Given the description of an element on the screen output the (x, y) to click on. 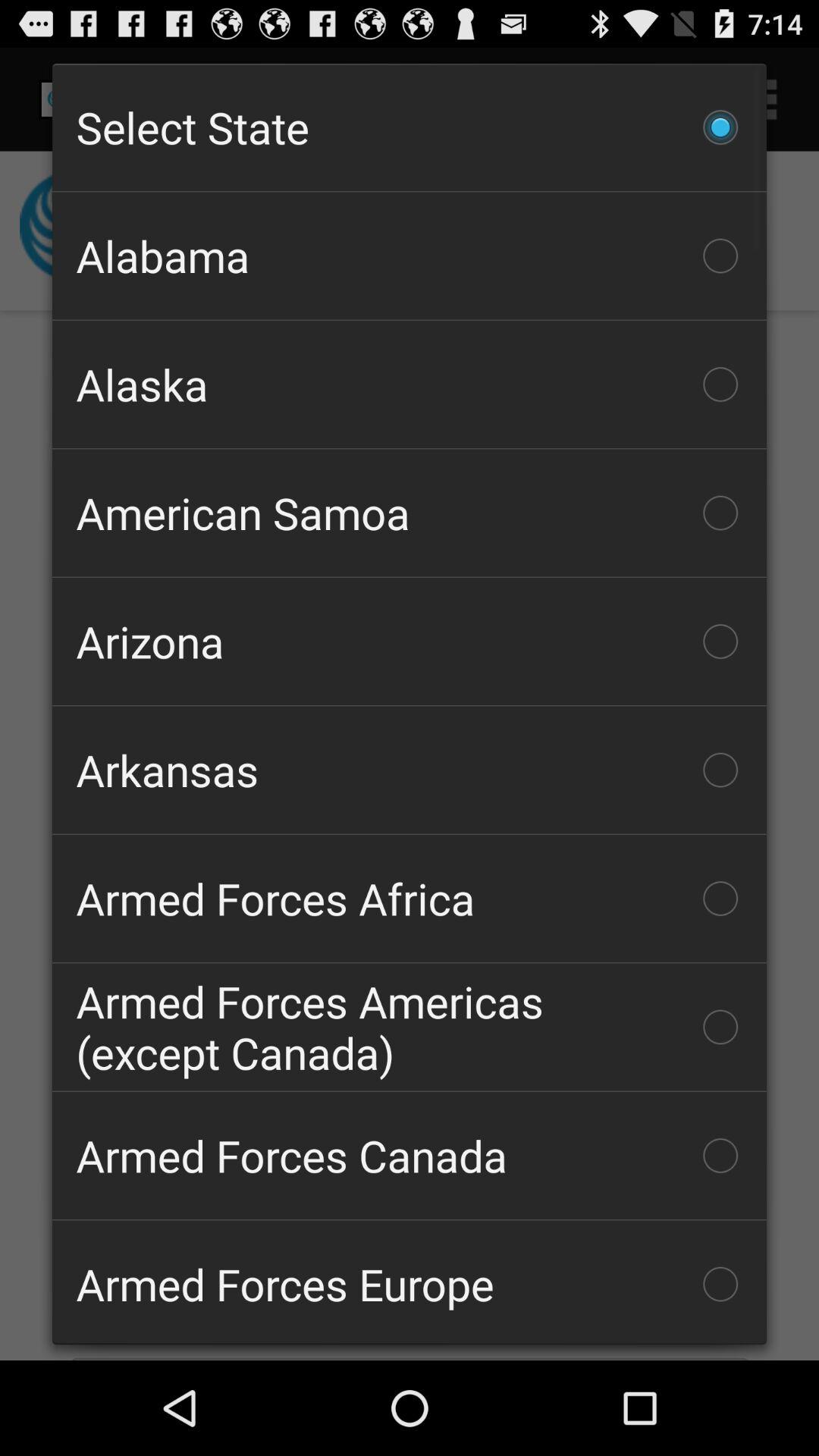
jump until the american samoa item (409, 512)
